Given the description of an element on the screen output the (x, y) to click on. 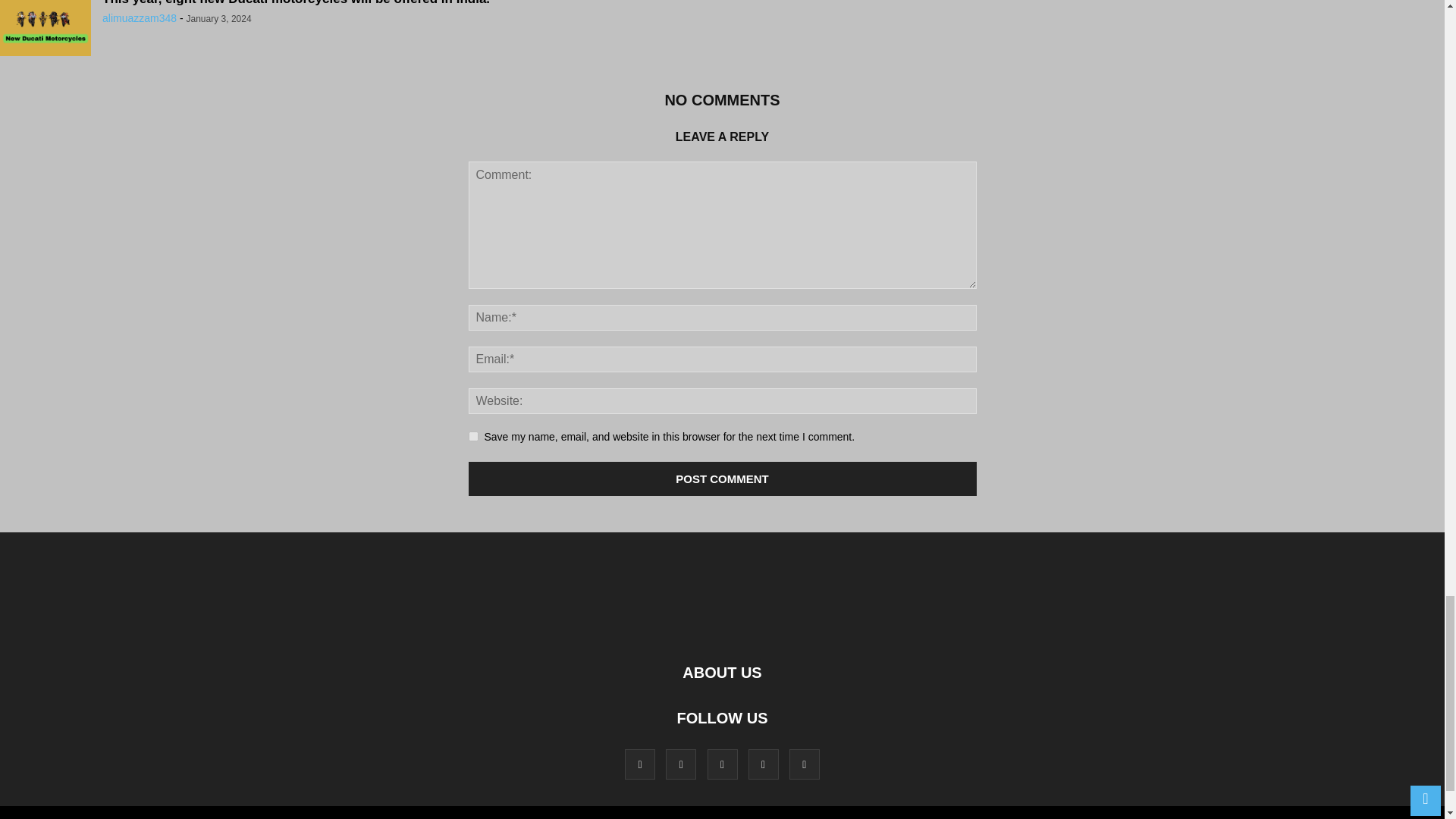
Post Comment (722, 478)
yes (473, 436)
